Given the description of an element on the screen output the (x, y) to click on. 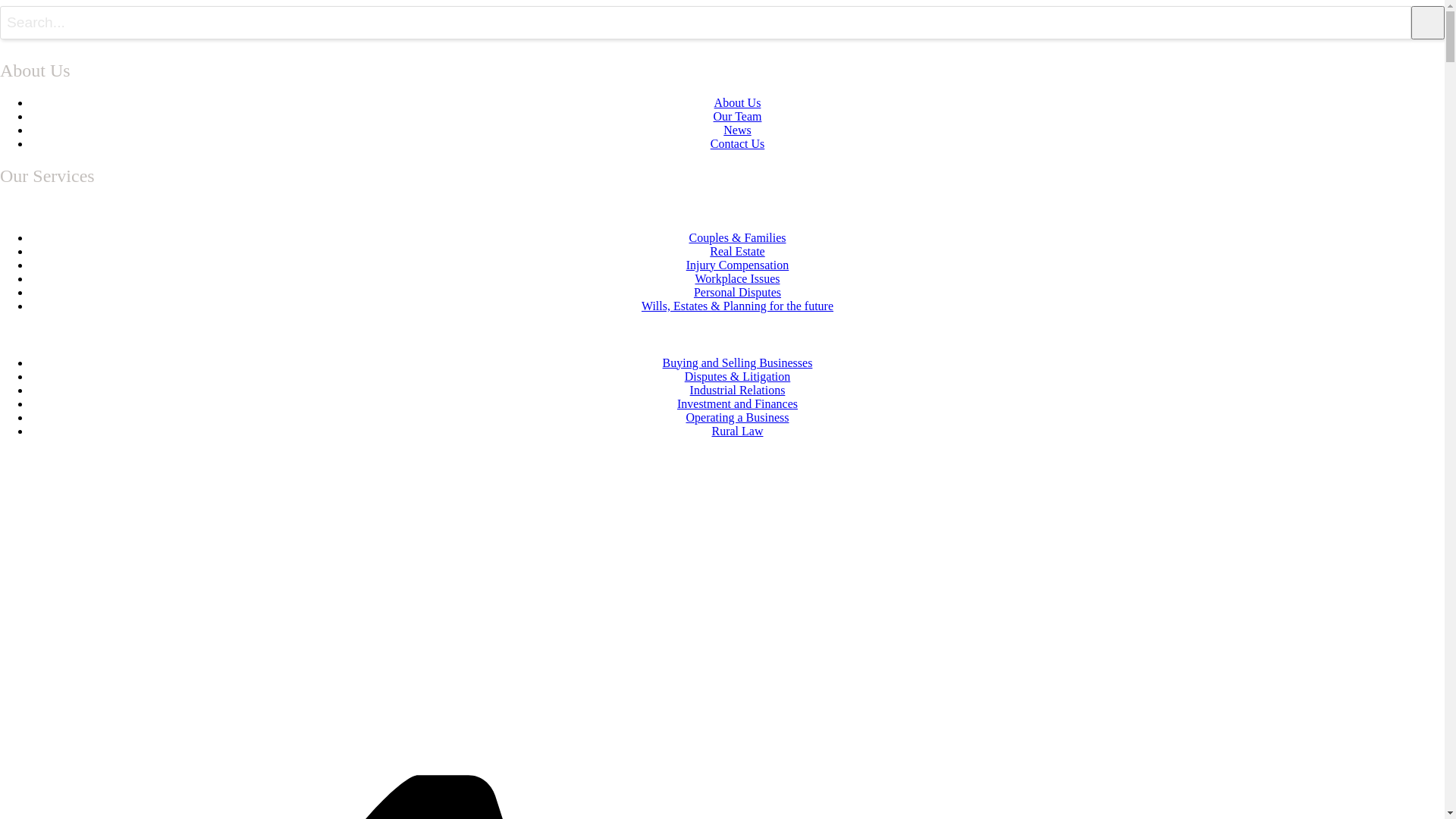
Business Legal Advice Element type: text (721, 334)
Our Team Element type: text (737, 115)
About Us Element type: text (737, 102)
Rural Law Element type: text (736, 430)
Contact Us Element type: text (40, 463)
Workplace Issues Element type: text (736, 278)
Injury Compensation Element type: text (737, 264)
News Element type: text (736, 129)
Personal Legal Advice Element type: text (722, 208)
Personal Disputes Element type: text (737, 291)
Contact Us Element type: text (737, 143)
Wills, Estates & Planning for the future Element type: text (737, 305)
Buying and Selling Businesses Element type: text (737, 362)
Operating a Business Element type: text (736, 417)
Investment and Finances Element type: text (737, 403)
Industrial Relations Element type: text (737, 389)
Real Estate Element type: text (736, 250)
Couples & Families Element type: text (736, 237)
Disputes & Litigation Element type: text (737, 376)
